Given the description of an element on the screen output the (x, y) to click on. 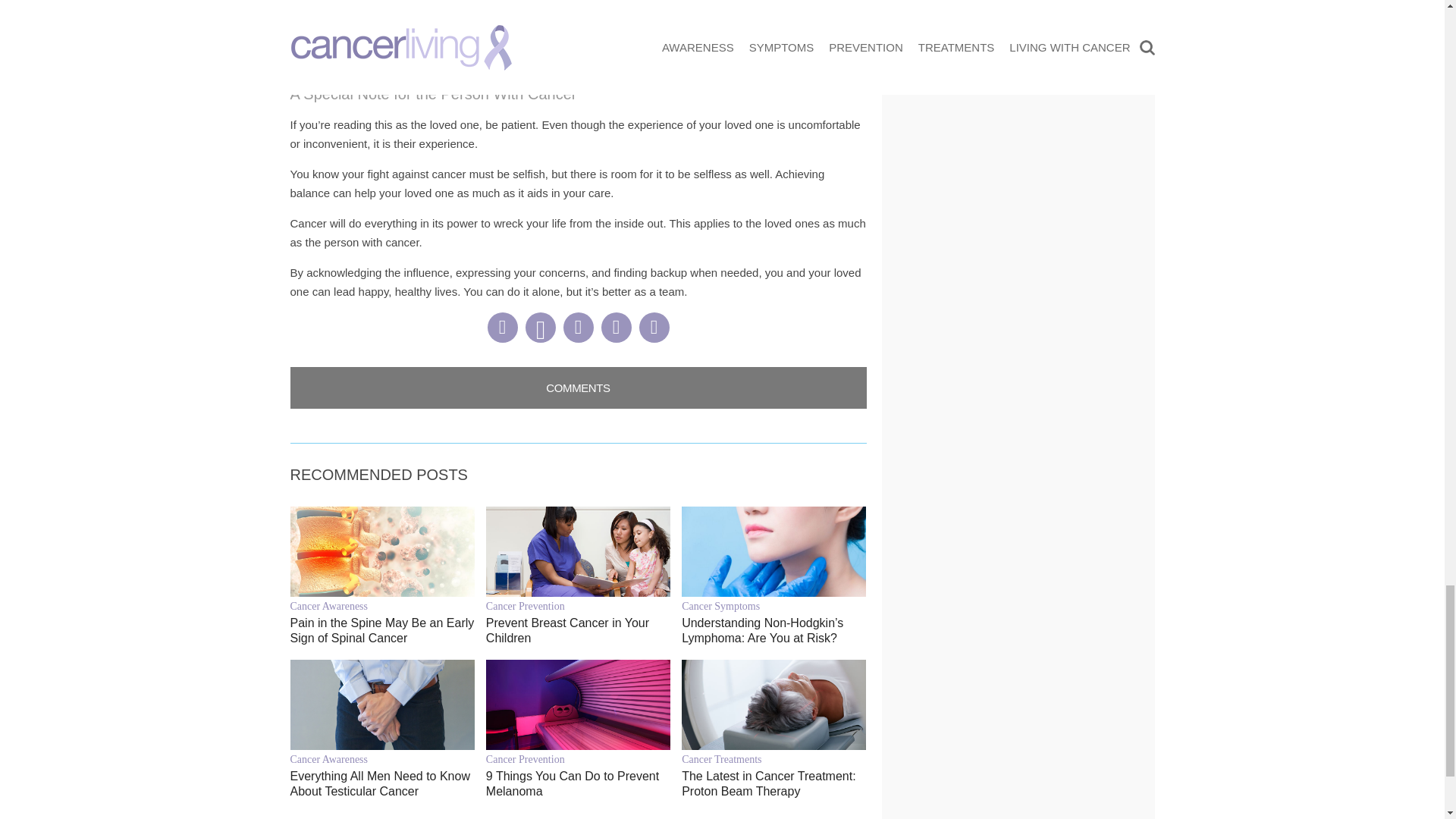
Pinterest (539, 327)
Twitter (614, 327)
Cancer Prevention (577, 605)
Cancer Symptoms (773, 605)
COMMENTS (577, 387)
Cancer Awareness (381, 758)
Cancer Awareness (381, 605)
Pain in the Spine May Be an Early Sign of Spinal Cancer (381, 630)
Email (653, 327)
Everything All Men Need to Know About Testicular Cancer (381, 784)
Prevent Breast Cancer in Your Children (577, 630)
Facebook (501, 327)
Messenger (577, 327)
